Given the description of an element on the screen output the (x, y) to click on. 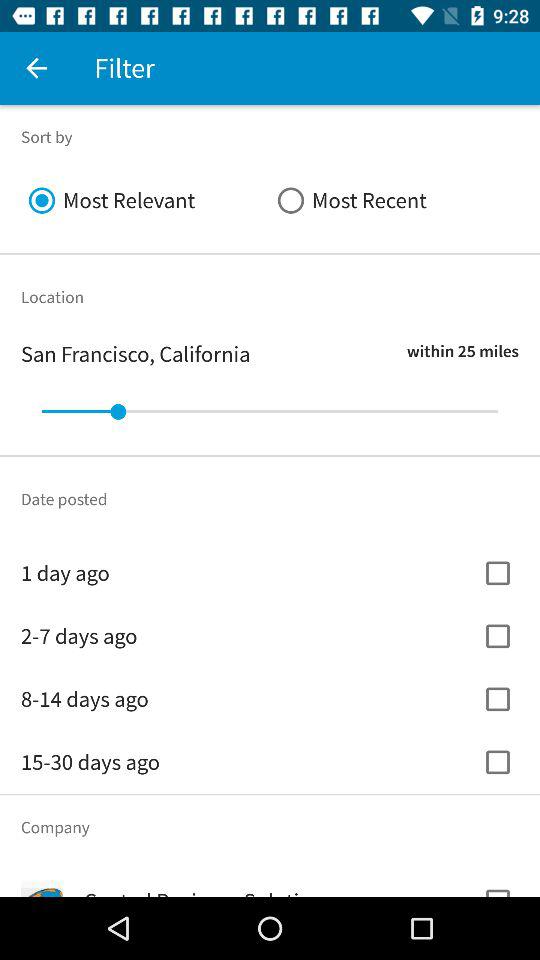
turn off the item to the right of the most relevant icon (394, 200)
